Given the description of an element on the screen output the (x, y) to click on. 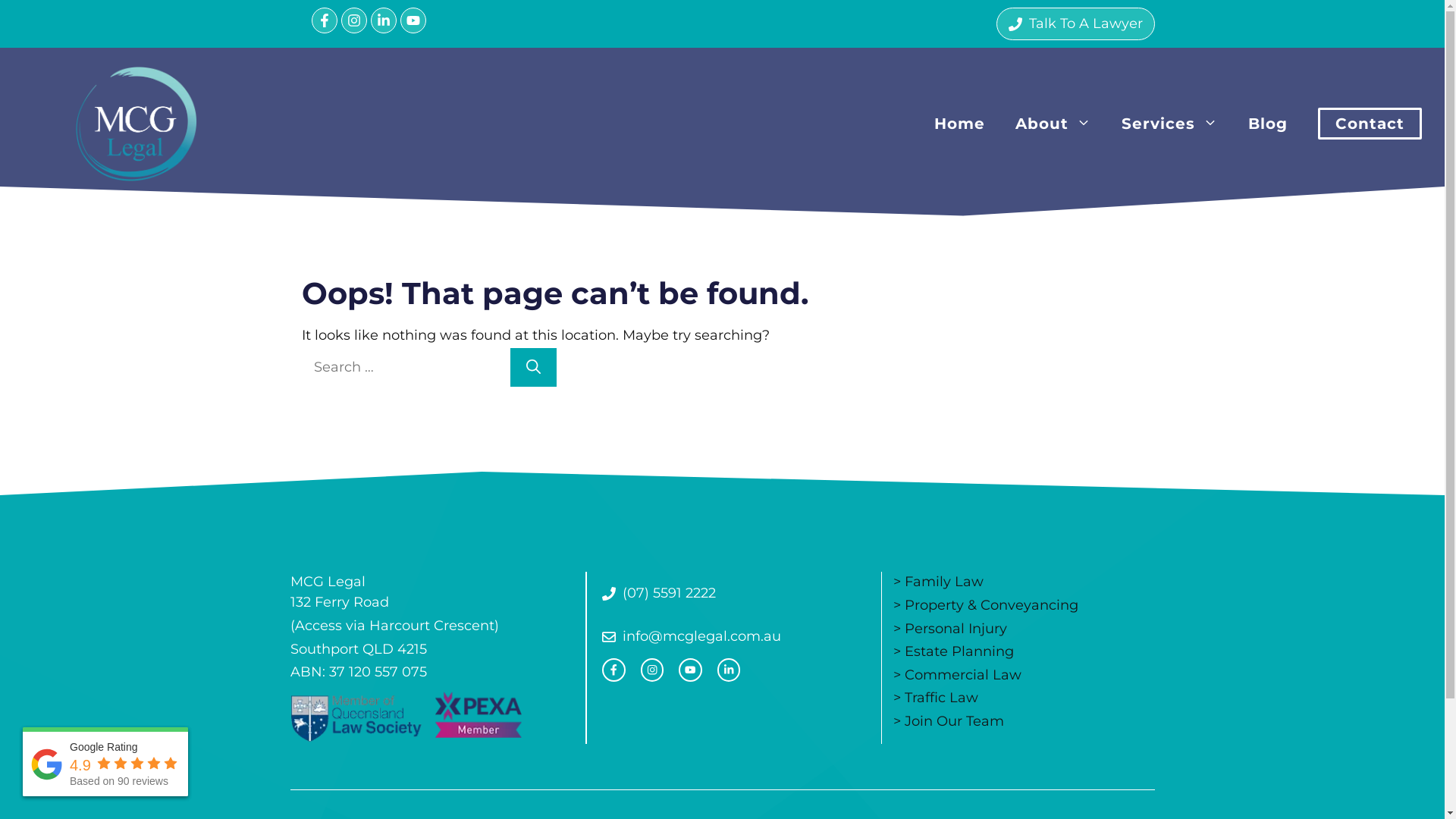
About Element type: text (1053, 123)
Services Element type: text (1169, 123)
Join Our Team Element type: text (954, 720)
Talk To A Lawyer Element type: text (1075, 23)
> Property & Conveyancing Element type: text (985, 604)
MCG Legal Element type: hover (136, 123)
info@mcglegal.com.au Element type: text (691, 636)
> Estate Planning Element type: text (953, 651)
(07) 5591 2222 Element type: text (658, 593)
> Commercial Law Element type: text (957, 674)
MCG Legal Element type: hover (136, 121)
Contact Element type: text (1369, 123)
Home Element type: text (959, 123)
> Personal Injury Element type: text (950, 628)
> Traffic Law Element type: text (935, 697)
> Element type: text (898, 720)
Blog Element type: text (1267, 123)
Search for: Element type: hover (403, 366)
> Family Law Element type: text (938, 581)
